Given the description of an element on the screen output the (x, y) to click on. 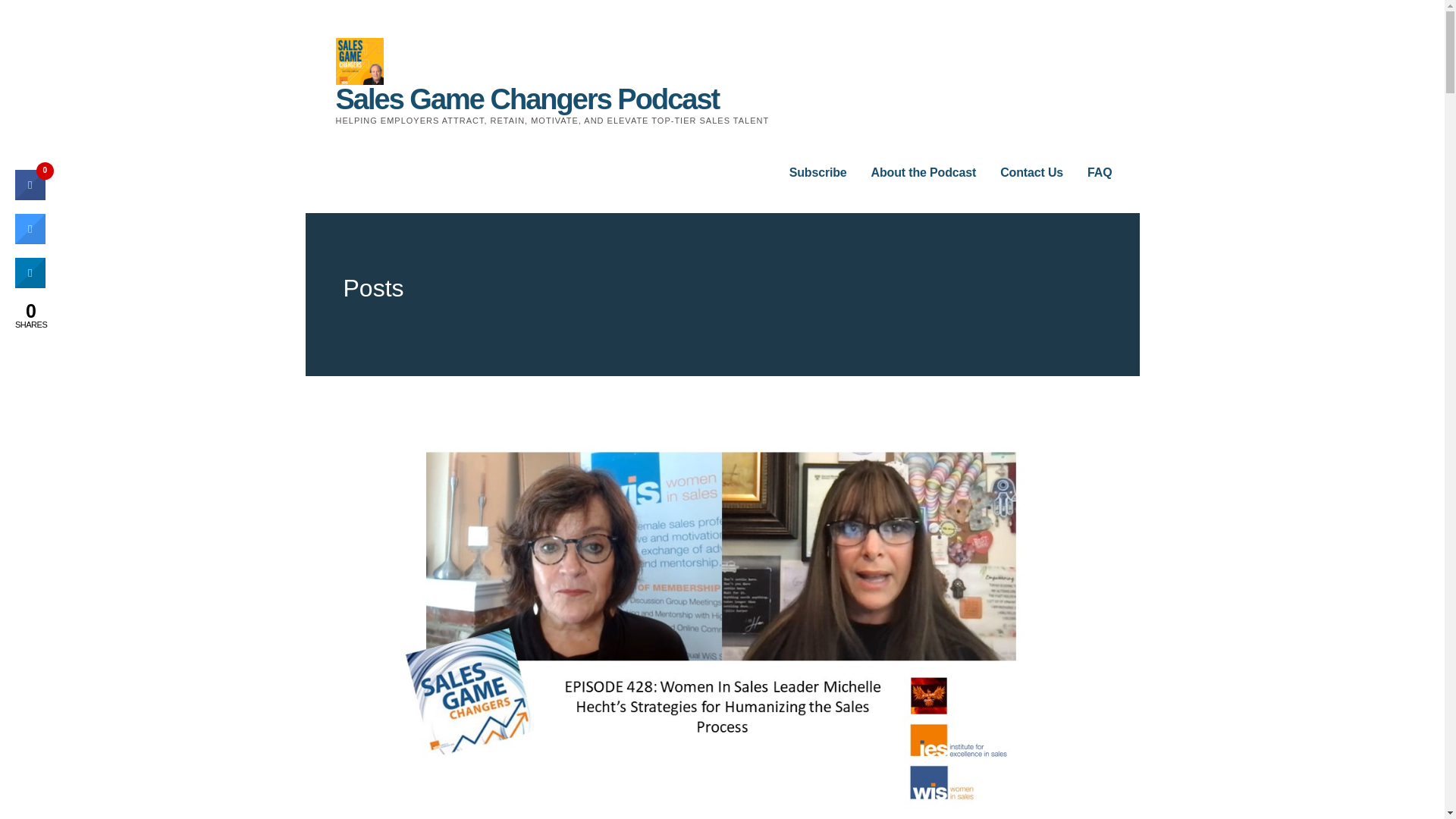
Share on Twitter (29, 239)
Sales Game Changers Podcast (526, 99)
Share on Facebook (29, 195)
About the Podcast (923, 173)
Contact Us (1031, 173)
Share on LinkedIn (29, 283)
Subscribe (818, 173)
